Given the description of an element on the screen output the (x, y) to click on. 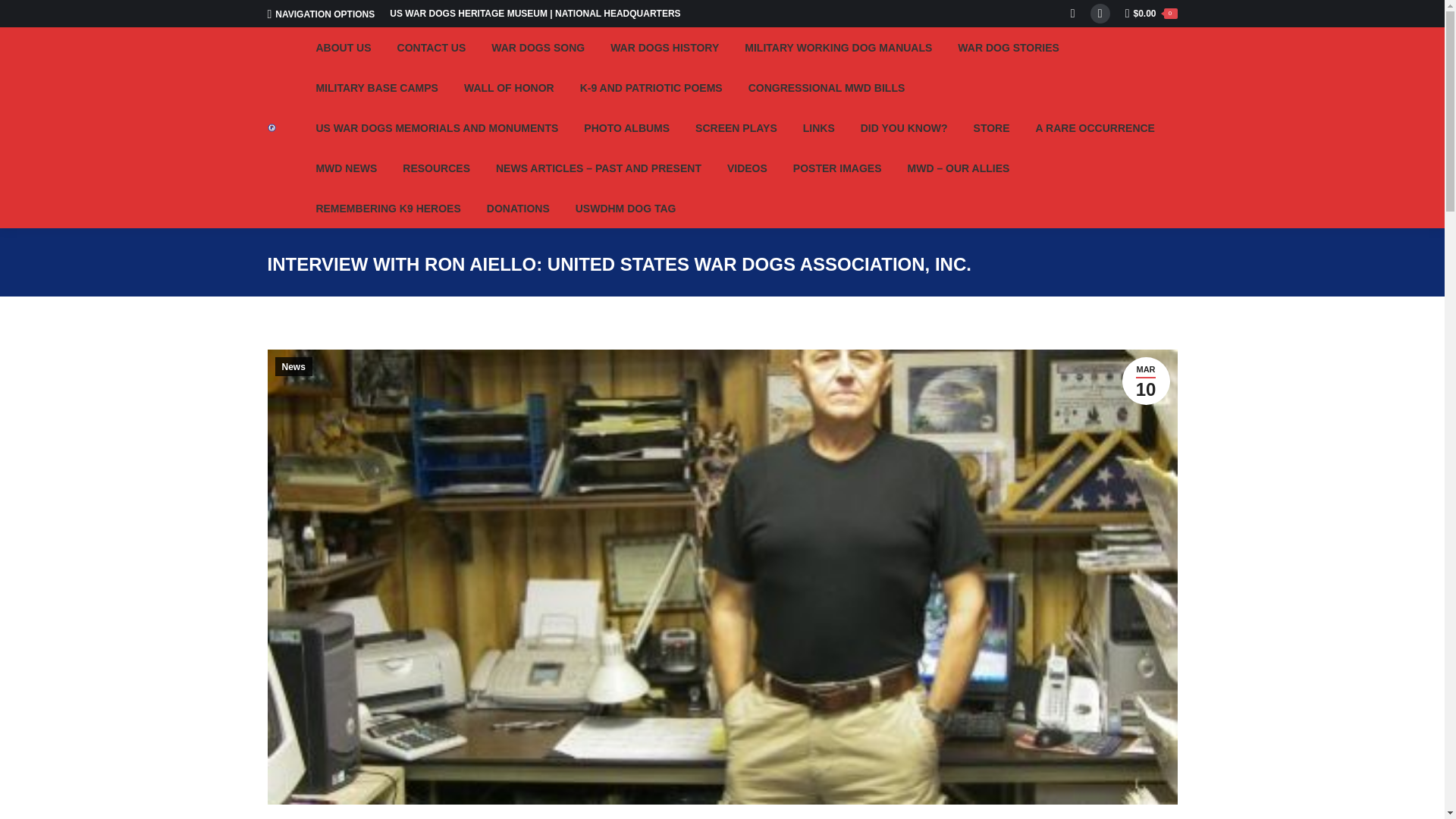
Facebook page opens in new window (1099, 13)
About The US War Dog Association (342, 47)
4:56 pm (1146, 380)
